Given the description of an element on the screen output the (x, y) to click on. 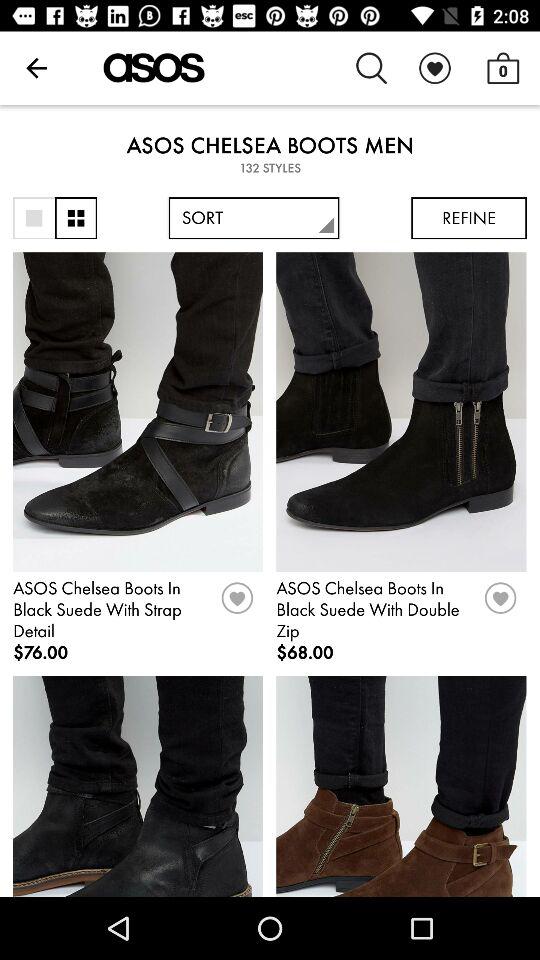
view one item only (34, 218)
